Given the description of an element on the screen output the (x, y) to click on. 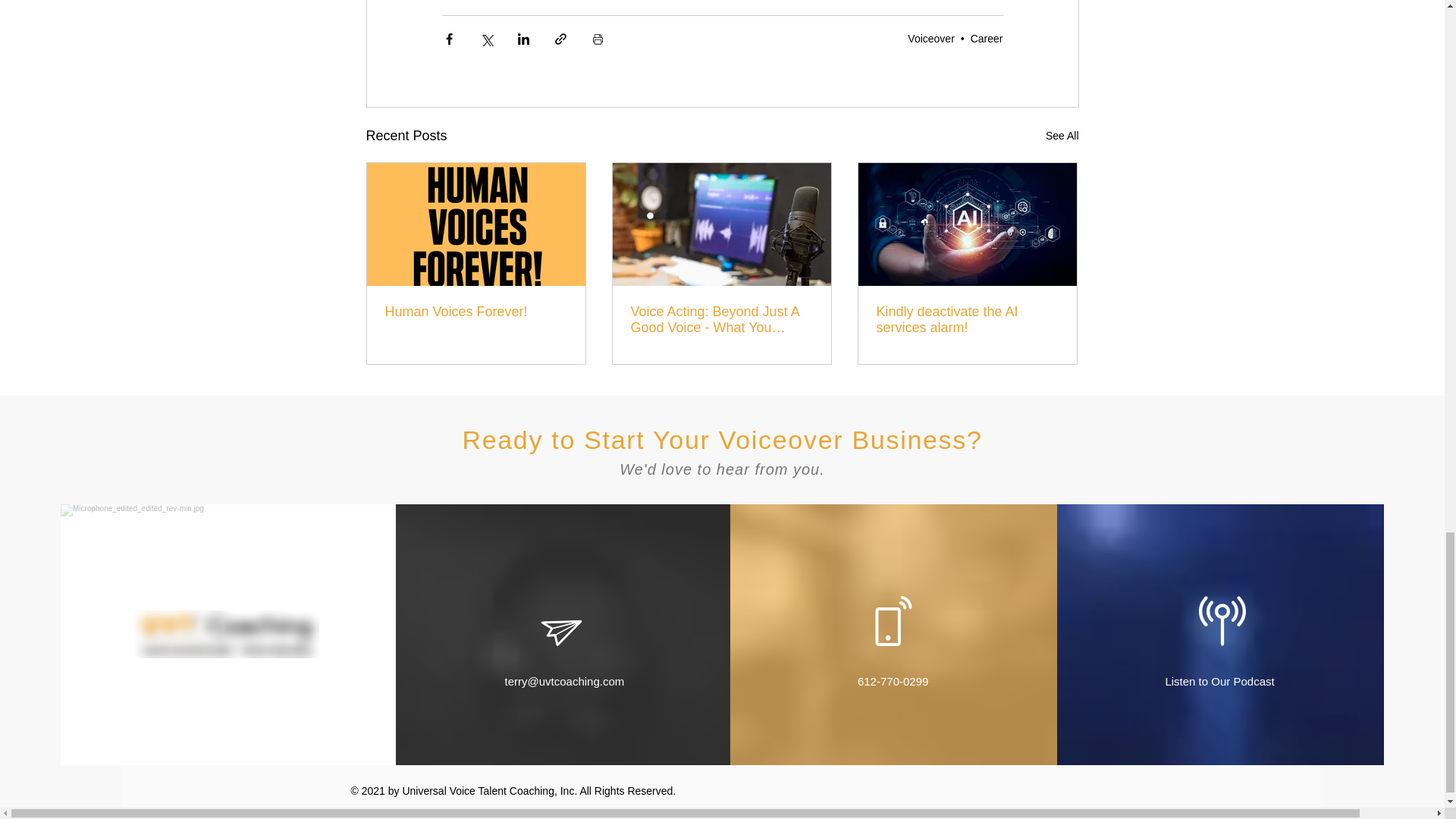
See All (1061, 136)
Career (987, 38)
Voiceover (930, 38)
